Given the description of an element on the screen output the (x, y) to click on. 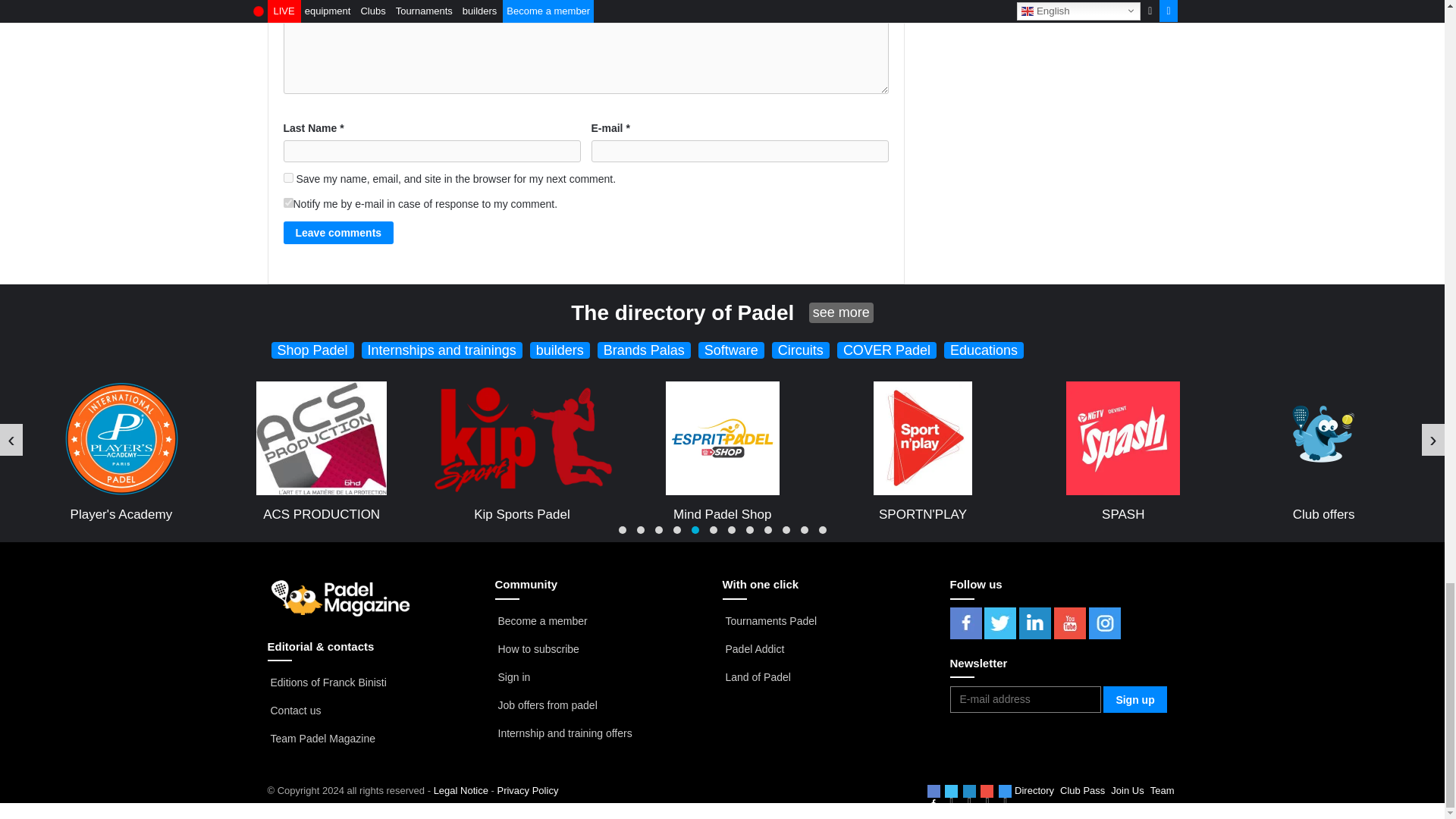
on (288, 203)
Sign up (1134, 699)
Leave comments (338, 232)
yes (288, 177)
